Given the description of an element on the screen output the (x, y) to click on. 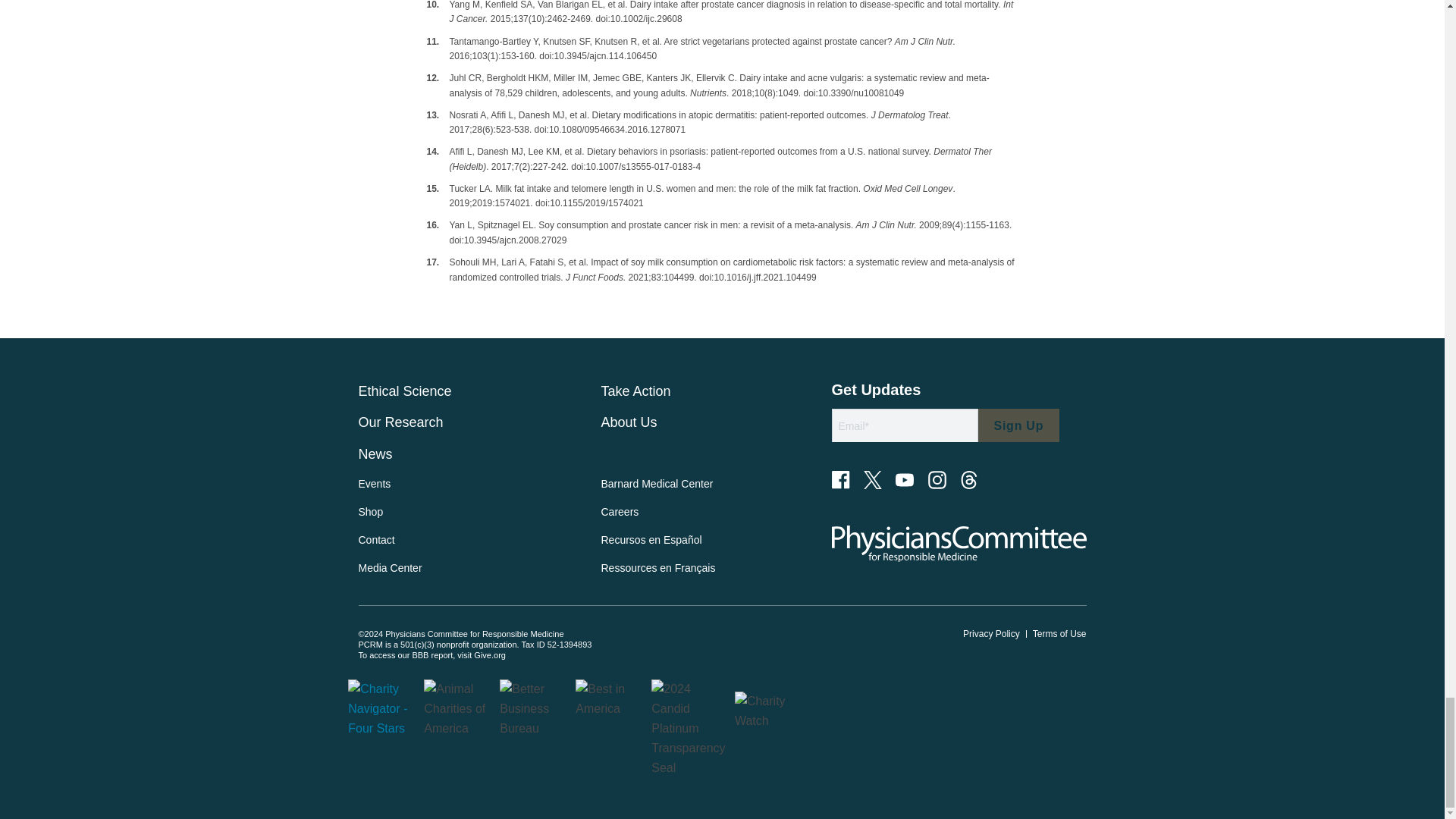
Sign Up (1018, 425)
